Given the description of an element on the screen output the (x, y) to click on. 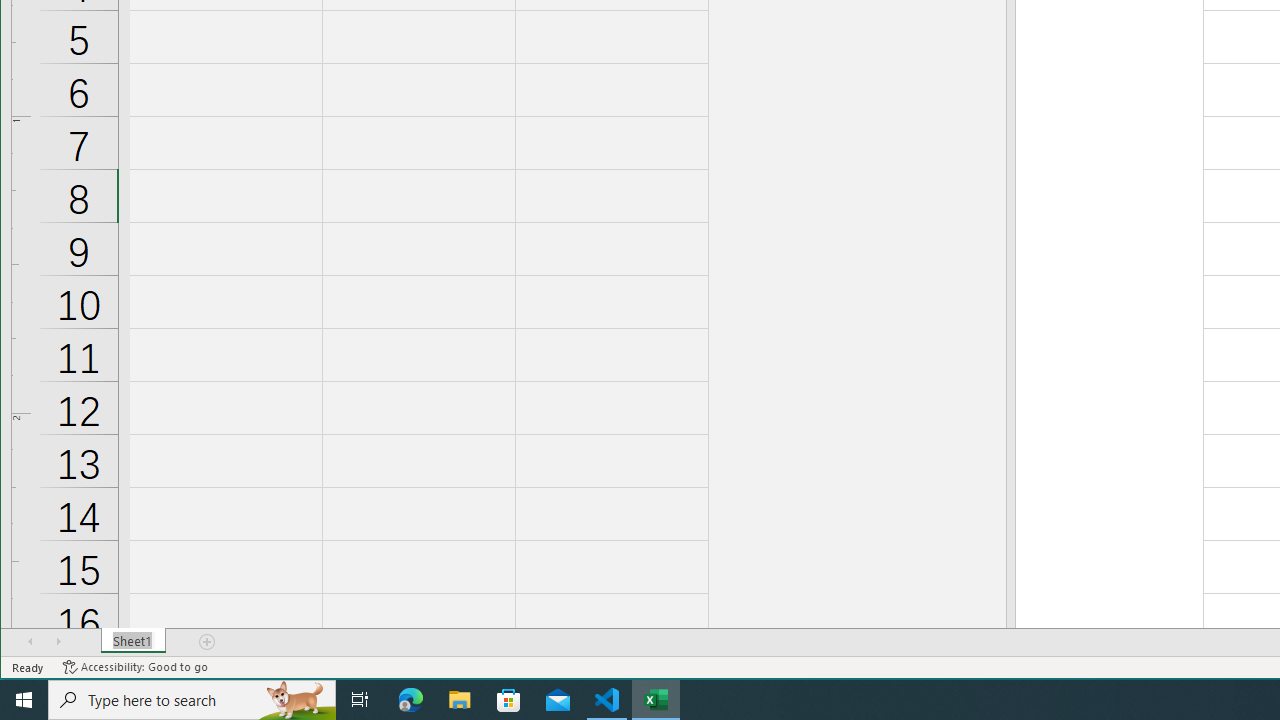
Microsoft Edge (411, 699)
